Given the description of an element on the screen output the (x, y) to click on. 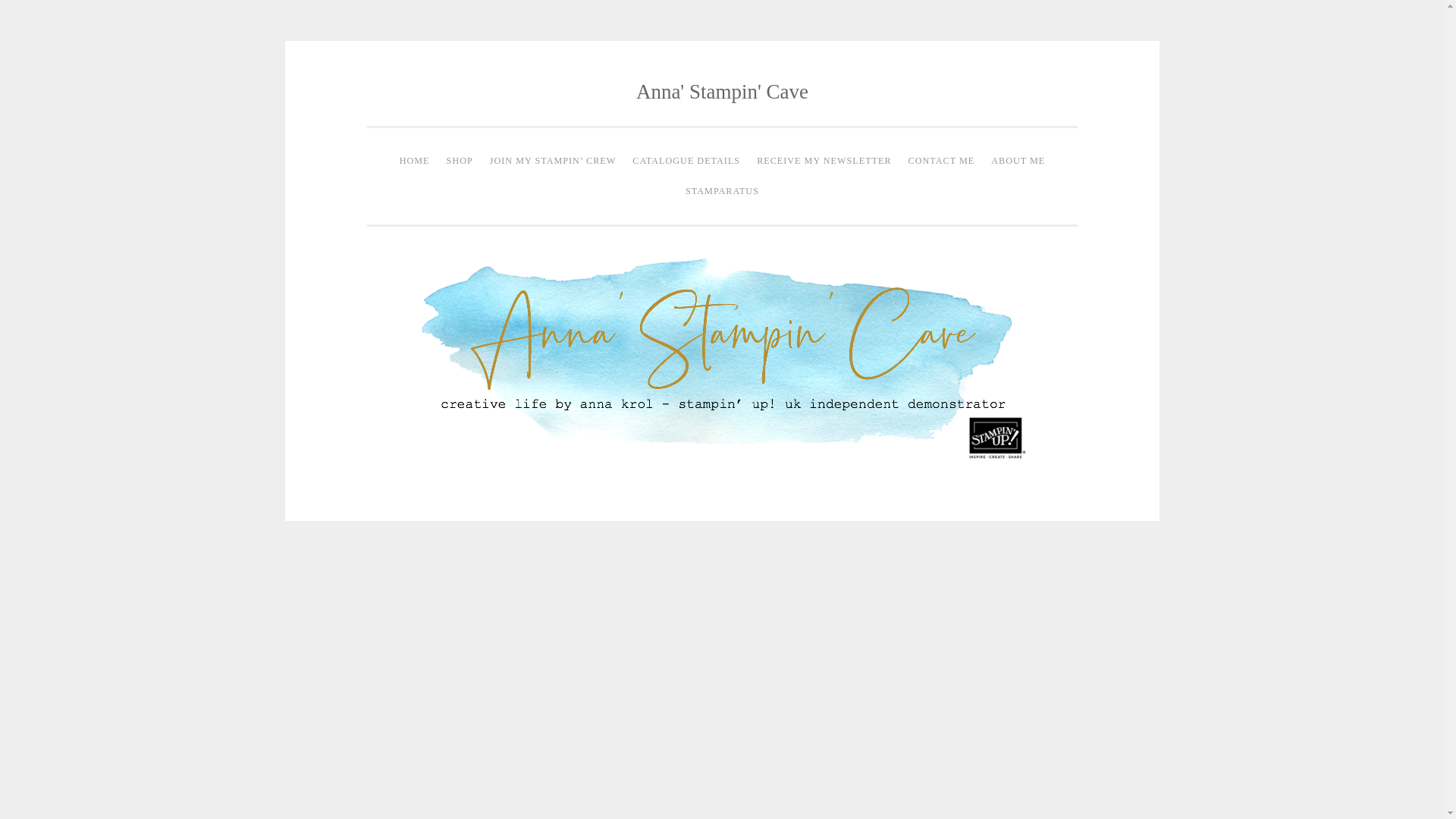
RECEIVE MY NEWSLETTER (823, 161)
ABOUT ME (1017, 161)
CONTACT ME (941, 161)
STAMPARATUS (721, 191)
Anna' Stampin' Cave (722, 91)
CATALOGUE DETAILS (686, 161)
SHOP (459, 161)
HOME (414, 161)
